Given the description of an element on the screen output the (x, y) to click on. 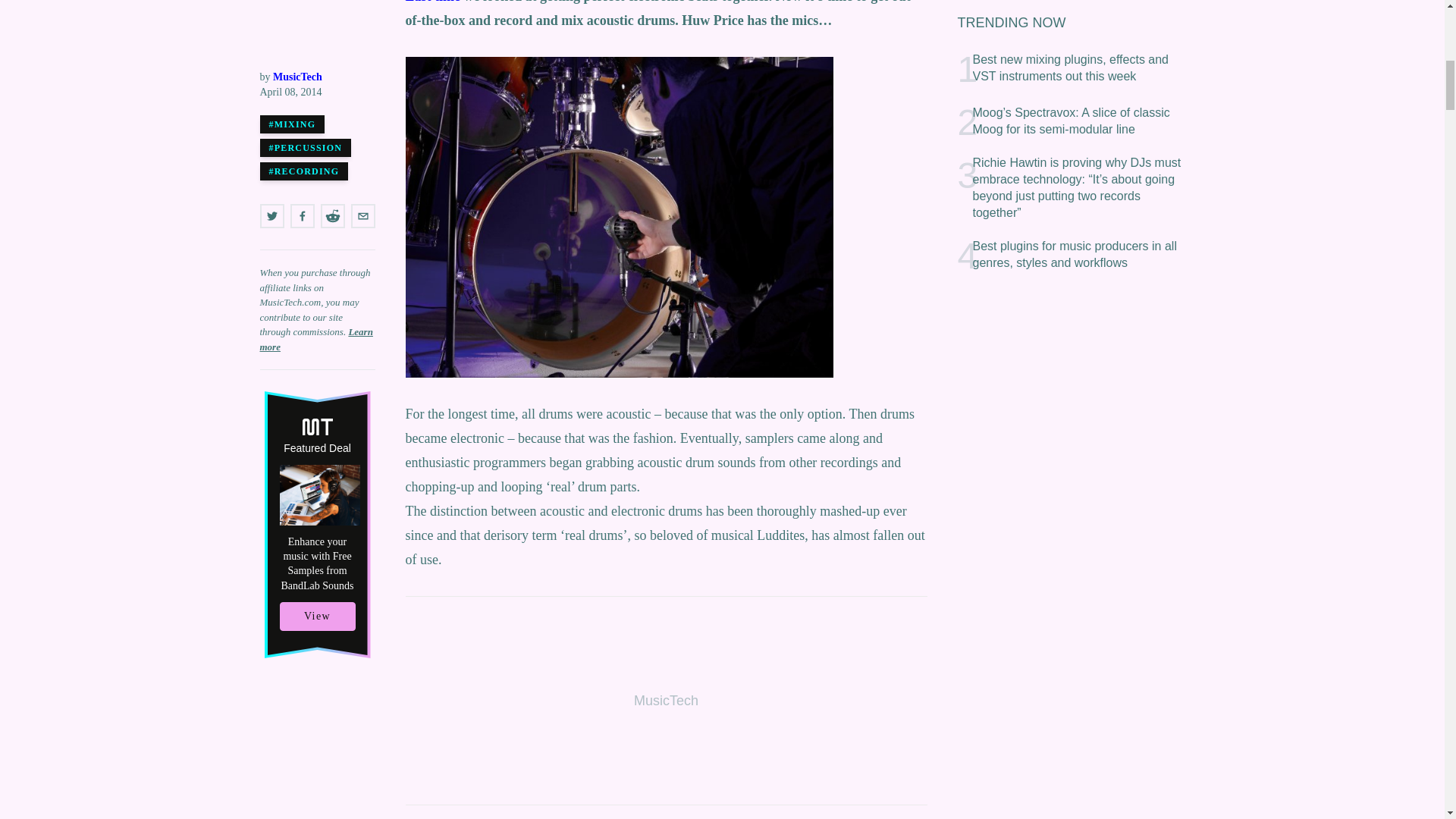
3rd party ad content (664, 700)
Last time (432, 2)
View (317, 39)
